Given the description of an element on the screen output the (x, y) to click on. 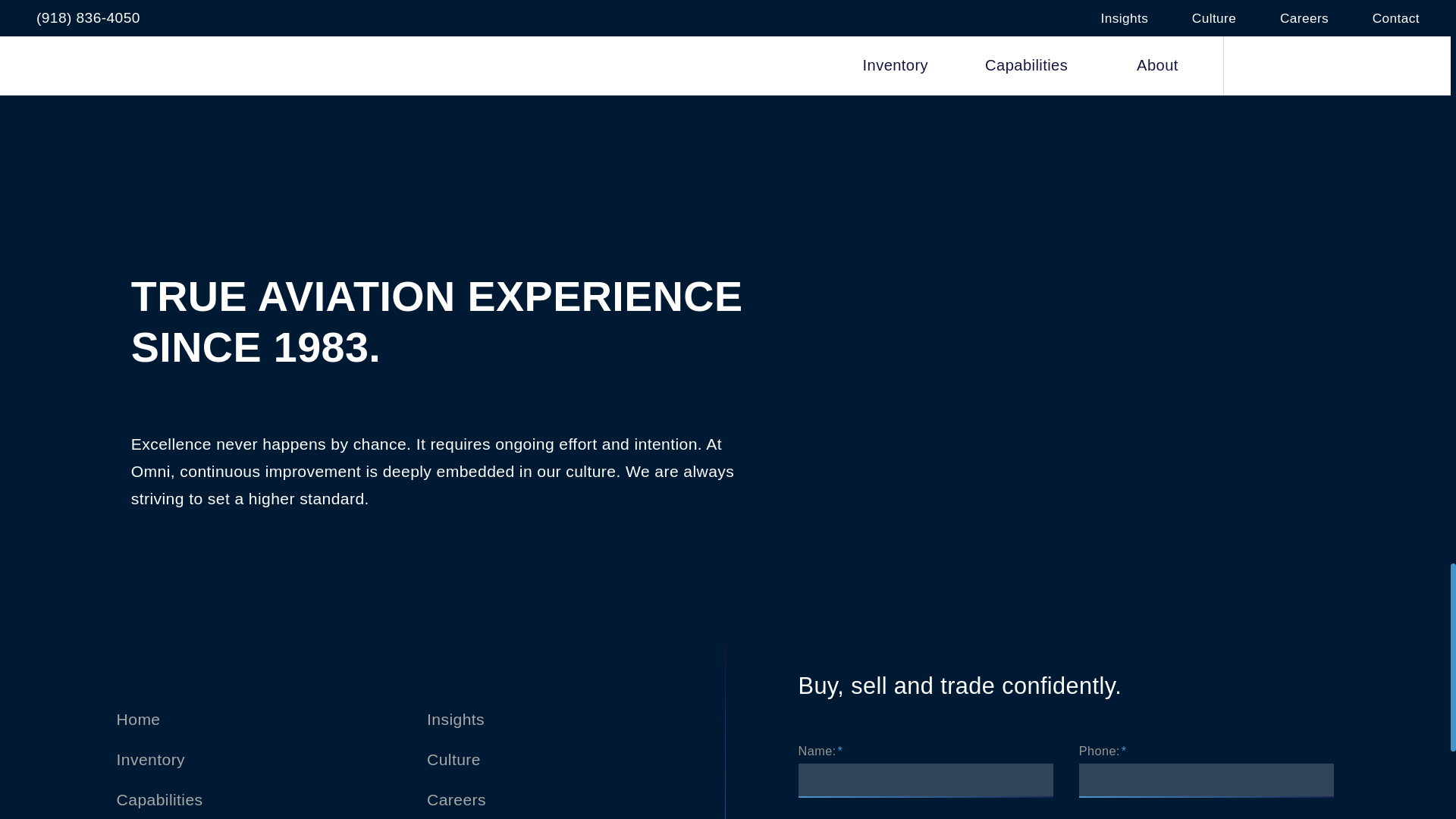
Capabilities (159, 799)
Careers (456, 799)
Insights (455, 719)
Culture (453, 759)
Inventory (150, 759)
Home (138, 719)
